Given the description of an element on the screen output the (x, y) to click on. 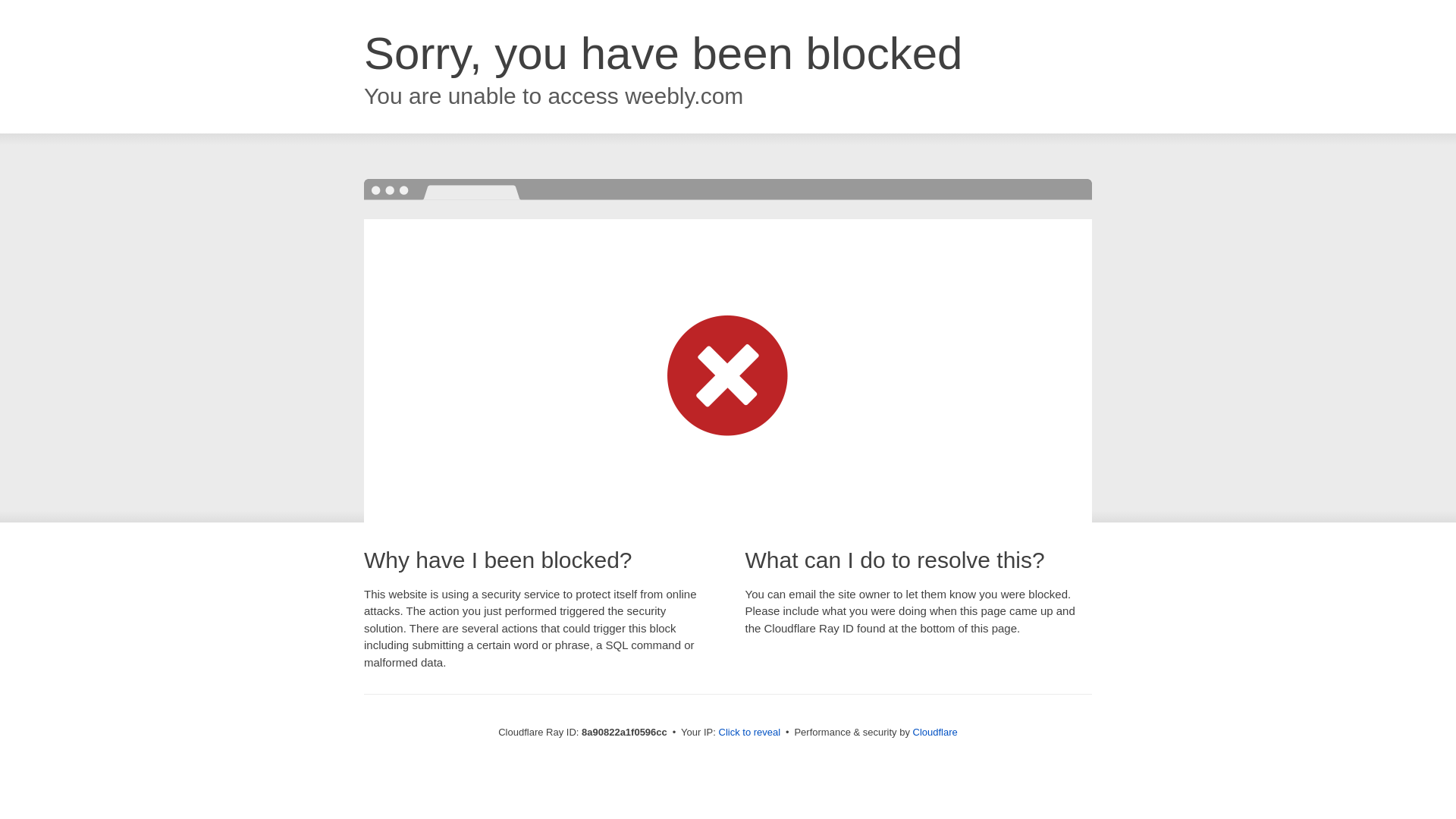
Cloudflare (935, 731)
Click to reveal (749, 732)
